Given the description of an element on the screen output the (x, y) to click on. 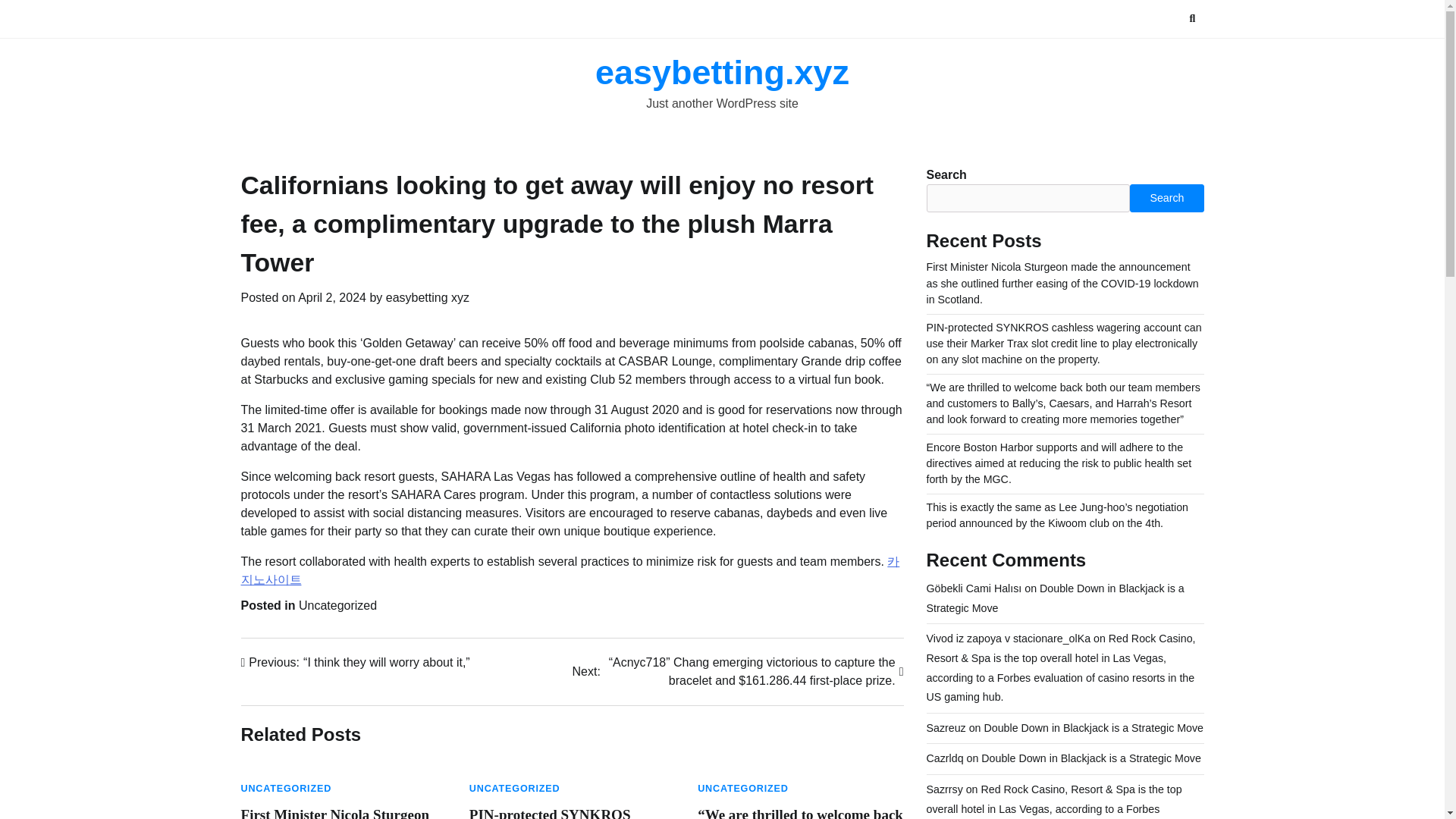
Search (1192, 18)
UNCATEGORIZED (286, 787)
UNCATEGORIZED (514, 787)
Search (1164, 53)
easybetting.xyz (721, 72)
Search (1166, 197)
Uncategorized (337, 604)
easybetting xyz (426, 297)
